Given the description of an element on the screen output the (x, y) to click on. 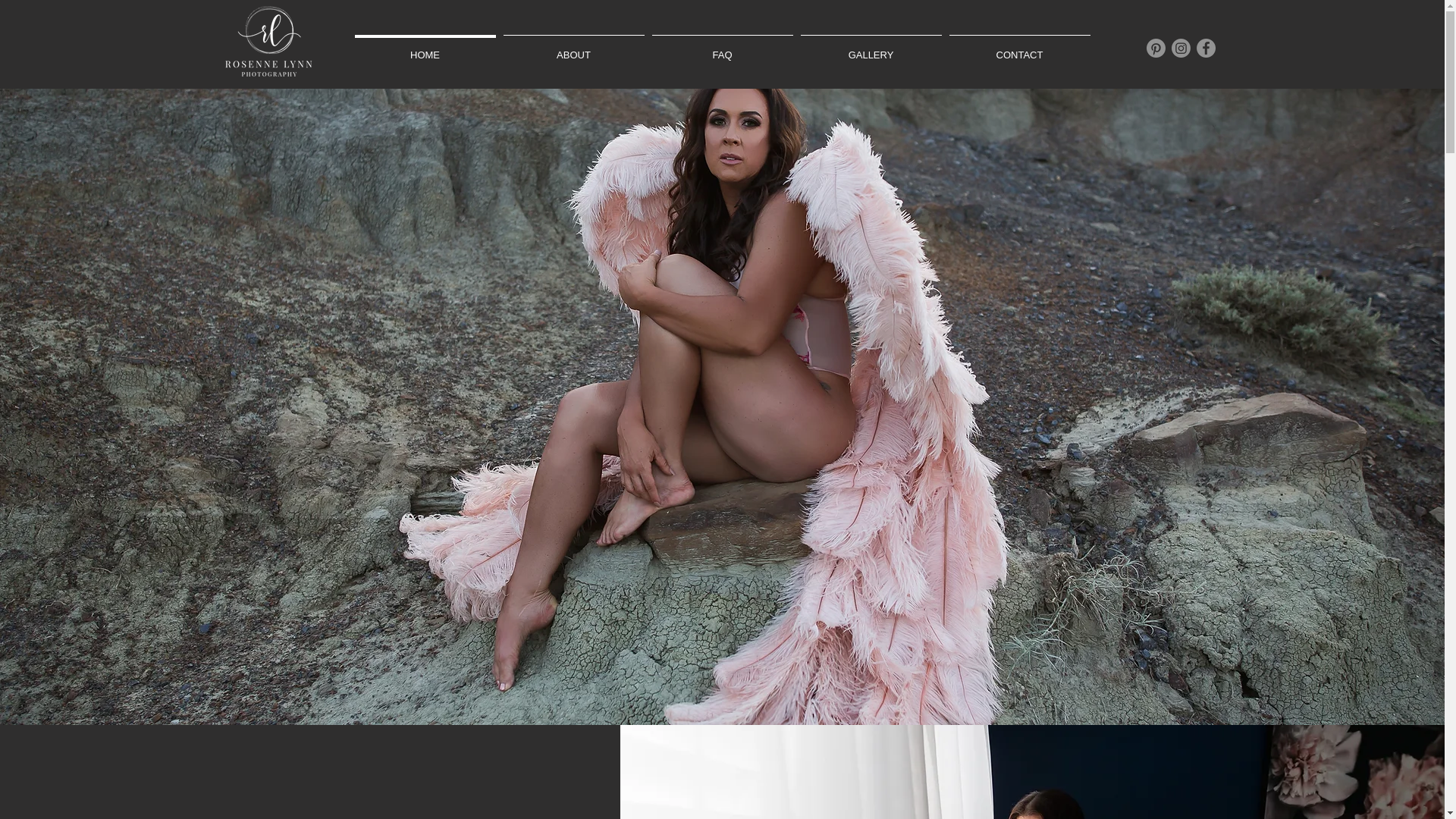
ABOUT (573, 48)
FAQ (721, 48)
GALLERY (870, 48)
CONTACT (1018, 48)
HOME (424, 48)
